Given the description of an element on the screen output the (x, y) to click on. 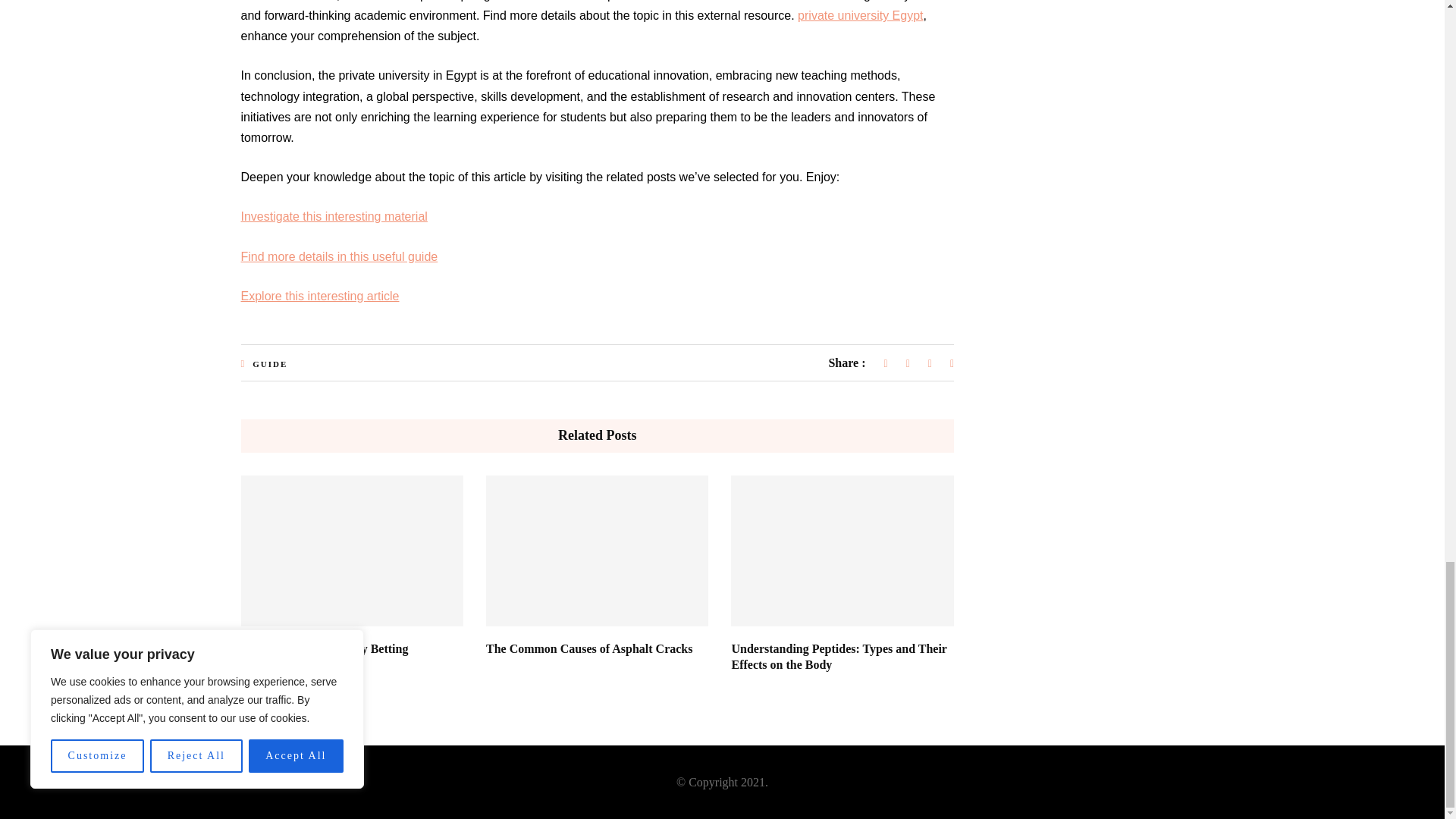
Understanding Peptides: Types and Their Effects on the Body (838, 656)
Explore this interesting article (319, 295)
Online Sporting Activity Betting (325, 648)
GUIDE (268, 363)
private university Egypt (860, 15)
The Common Causes of Asphalt Cracks (589, 648)
Find more details in this useful guide (339, 256)
Investigate this interesting material (334, 215)
